Given the description of an element on the screen output the (x, y) to click on. 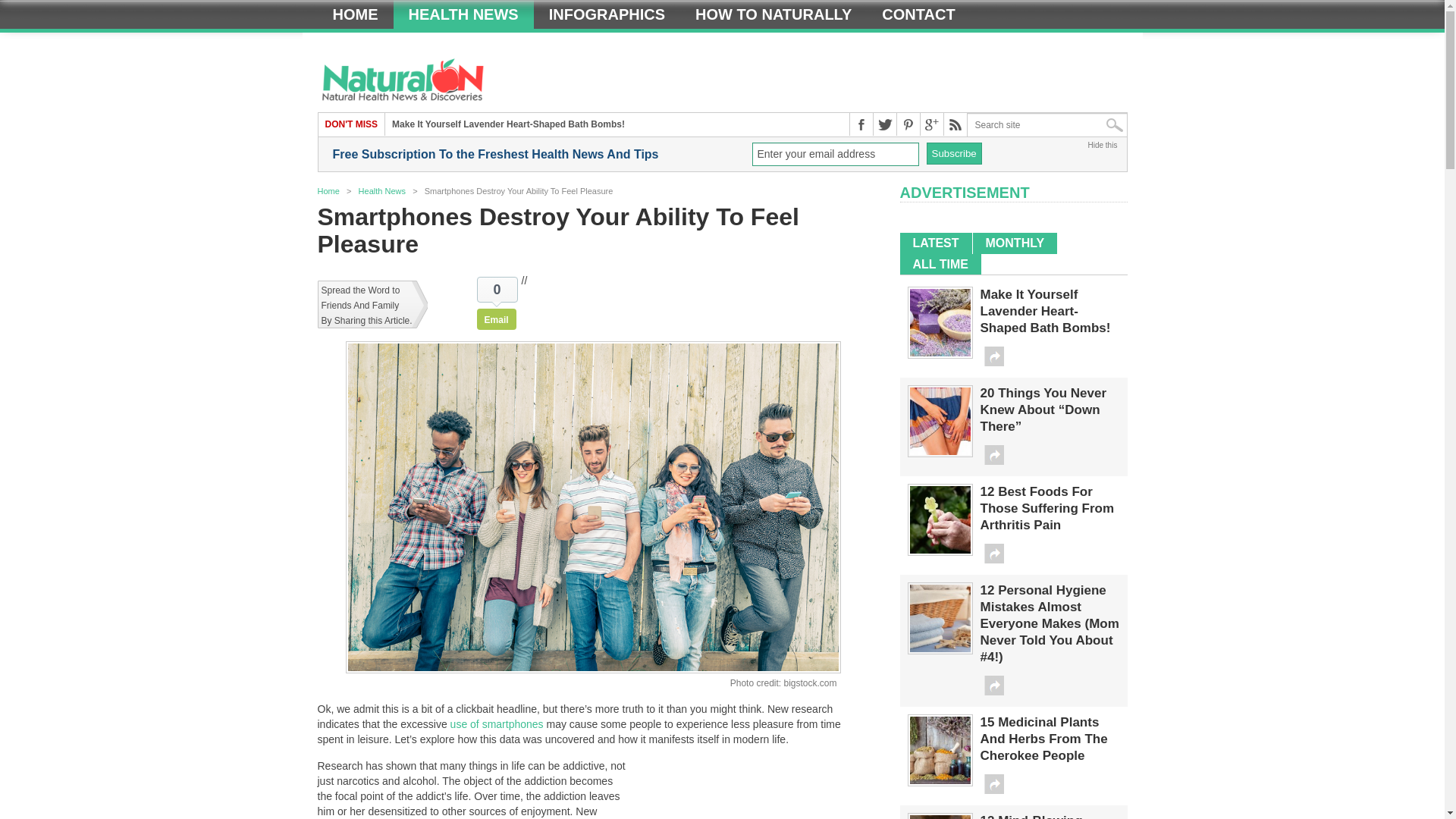
Home (328, 190)
Email (496, 319)
HEALTH NEWS (462, 14)
Subscribe (953, 153)
Make It Yourself Lavender Heart-Shaped Bath Bombs! (507, 123)
HOW TO NATURALLY (772, 14)
0 (497, 289)
Email (496, 319)
CONTACT (917, 14)
Health News (382, 190)
Enter your email address (835, 154)
HOME (355, 14)
Search site (1047, 124)
Subscribe (953, 153)
12 Best Foods For Those Suffering From Arthritis Pain (940, 550)
